Given the description of an element on the screen output the (x, y) to click on. 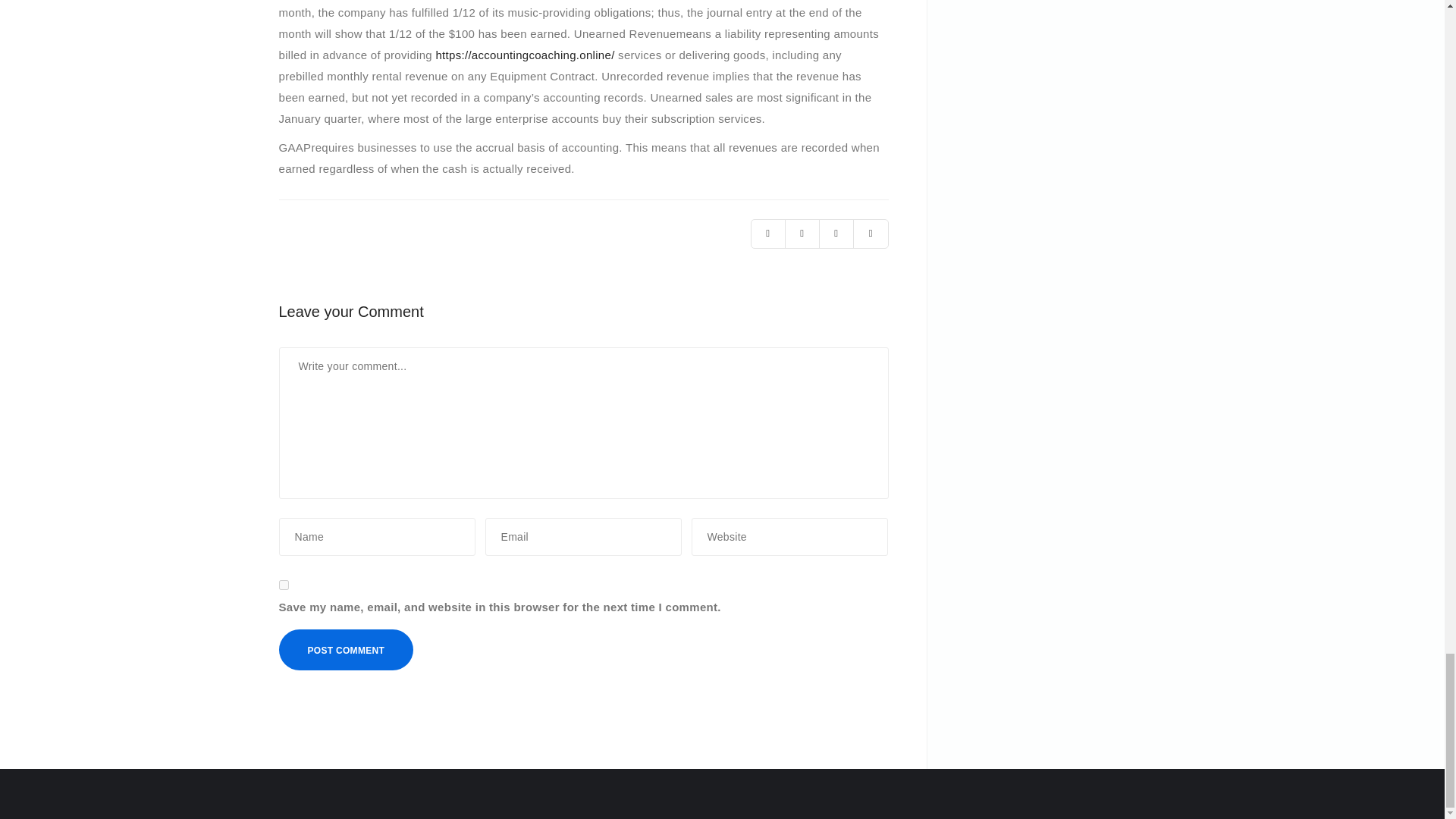
yes (283, 584)
Share On Linkedin (835, 234)
Post Comment (346, 649)
Post Comment (346, 649)
Share On Twitter (767, 234)
Share On Facebook (802, 234)
